Given the description of an element on the screen output the (x, y) to click on. 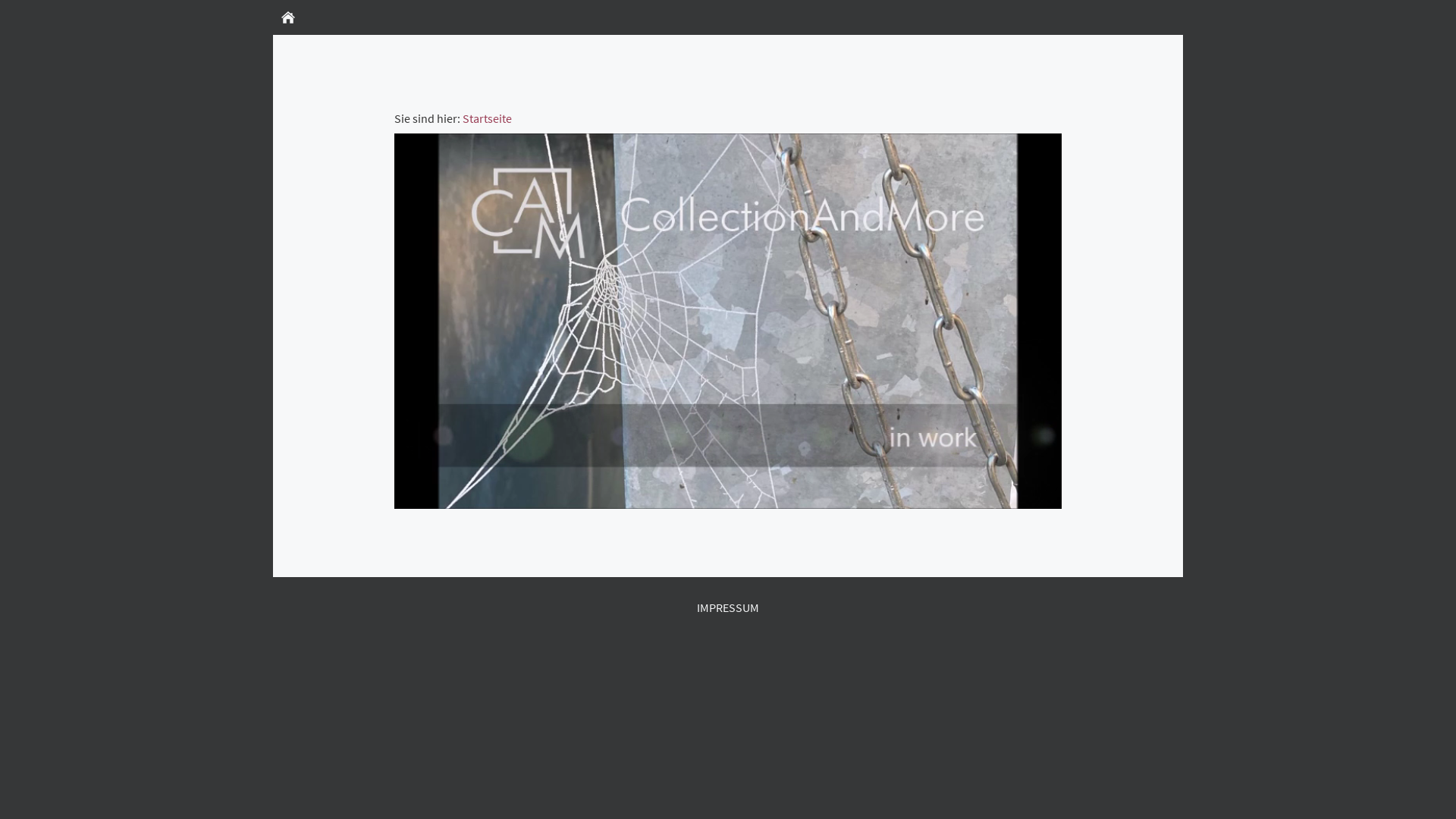
IMPRESSUM Element type: text (727, 607)
Startseite Element type: text (486, 117)
